Given the description of an element on the screen output the (x, y) to click on. 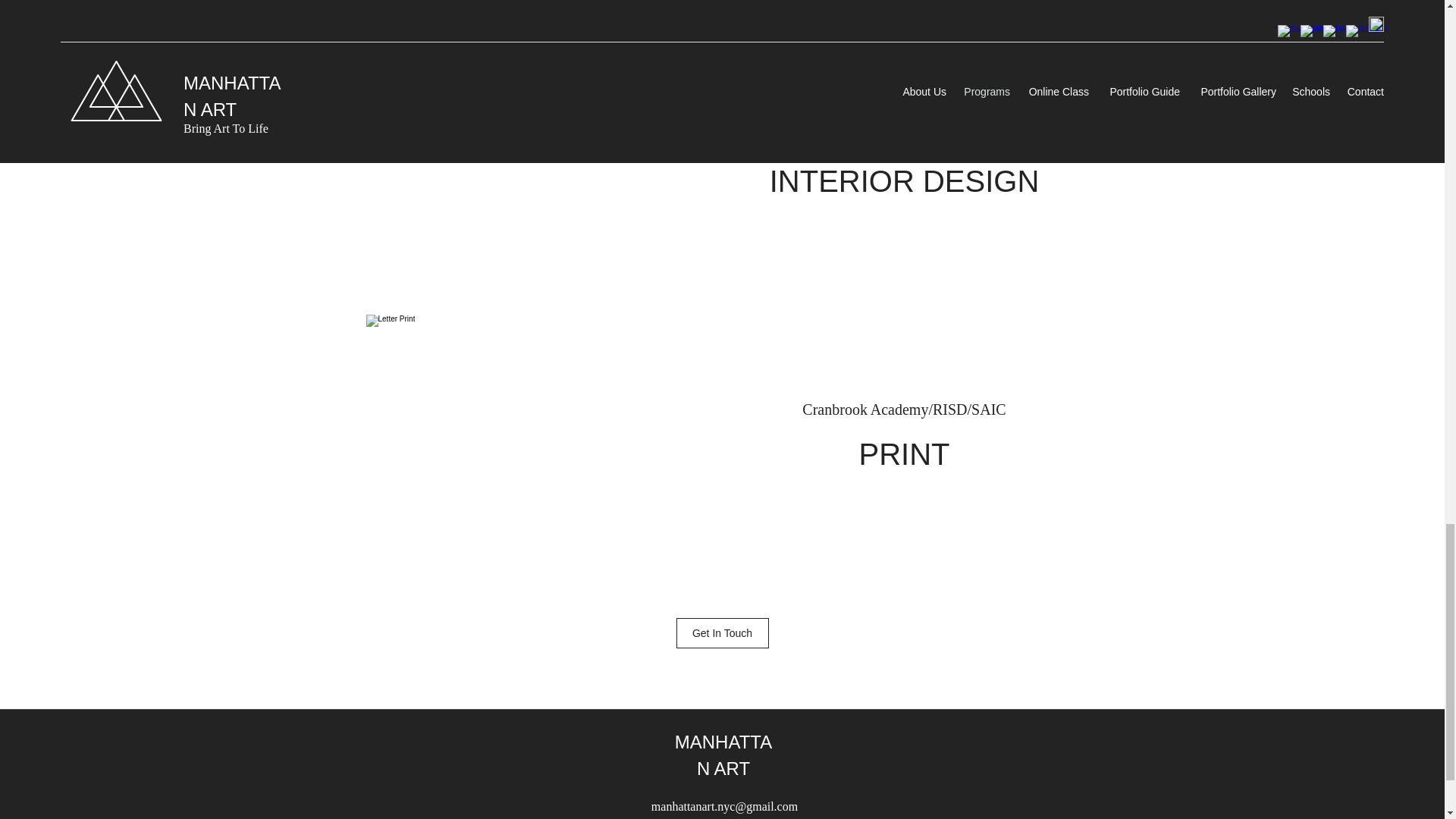
Get In Touch (722, 633)
